Given the description of an element on the screen output the (x, y) to click on. 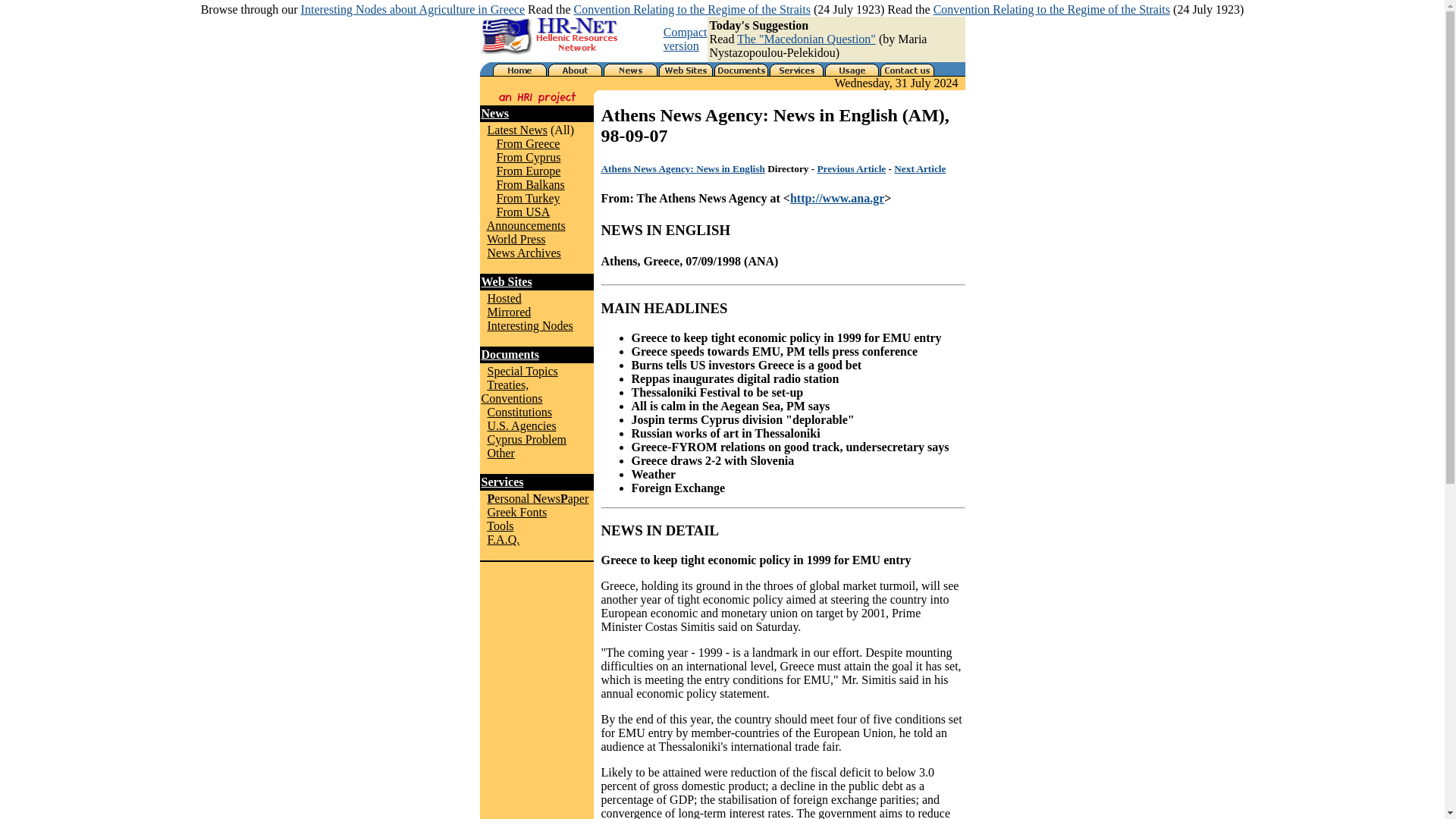
U.S. Agencies (521, 425)
News Archives (523, 252)
Mirrored (508, 311)
From Greece (527, 143)
News (494, 113)
Convention Relating to the Regime of the Straits (691, 9)
Convention Relating to the Regime of the Straits (1051, 9)
Web Sites (505, 281)
Constitutions (518, 411)
Treaties, Conventions (510, 391)
Latest News (516, 129)
Documents (509, 354)
From Balkans (530, 184)
From Europe (528, 170)
Special Topics (521, 370)
